Given the description of an element on the screen output the (x, y) to click on. 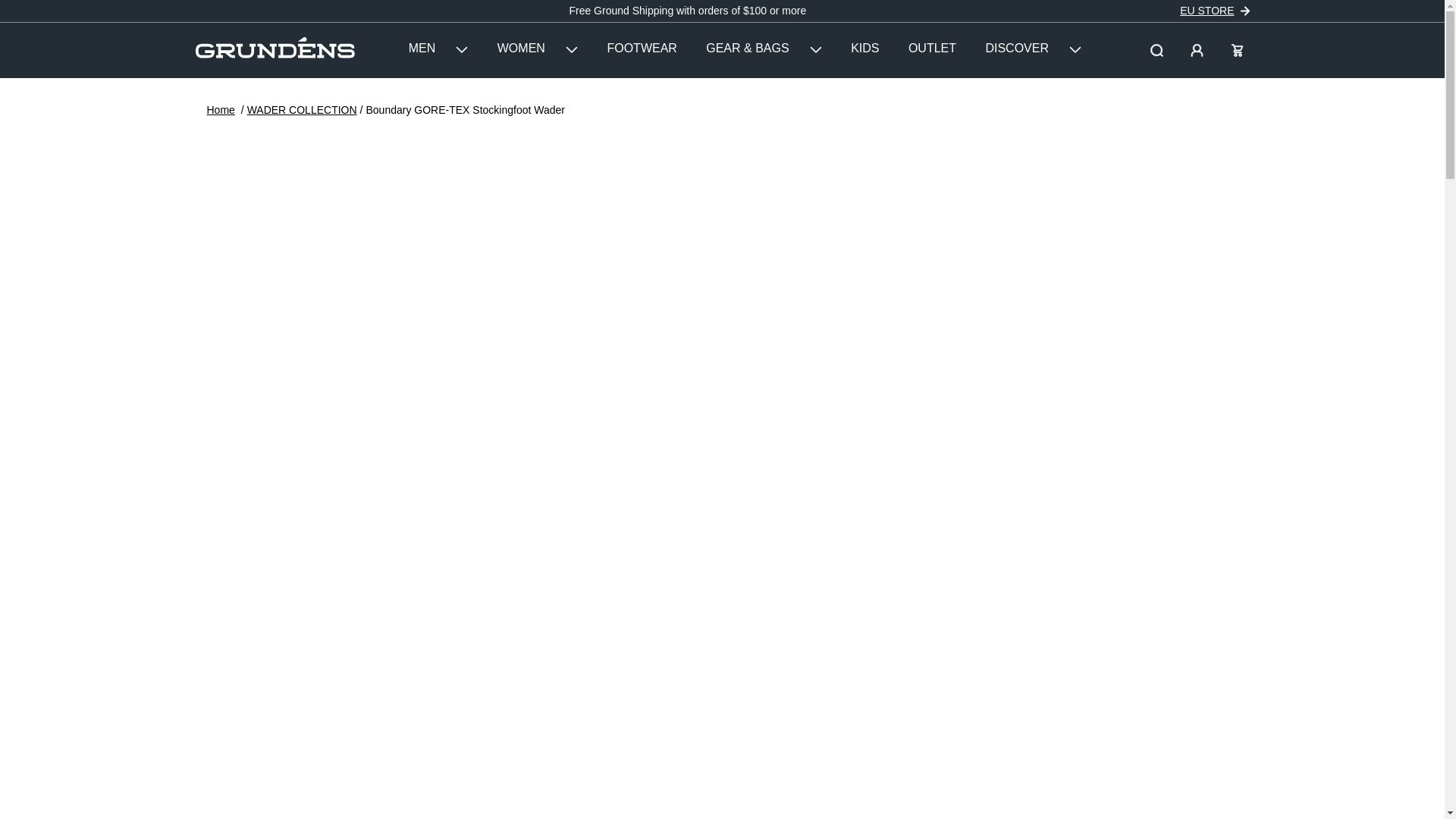
Home (220, 110)
EU STORE (1206, 10)
Skip to content (19, 11)
